Given the description of an element on the screen output the (x, y) to click on. 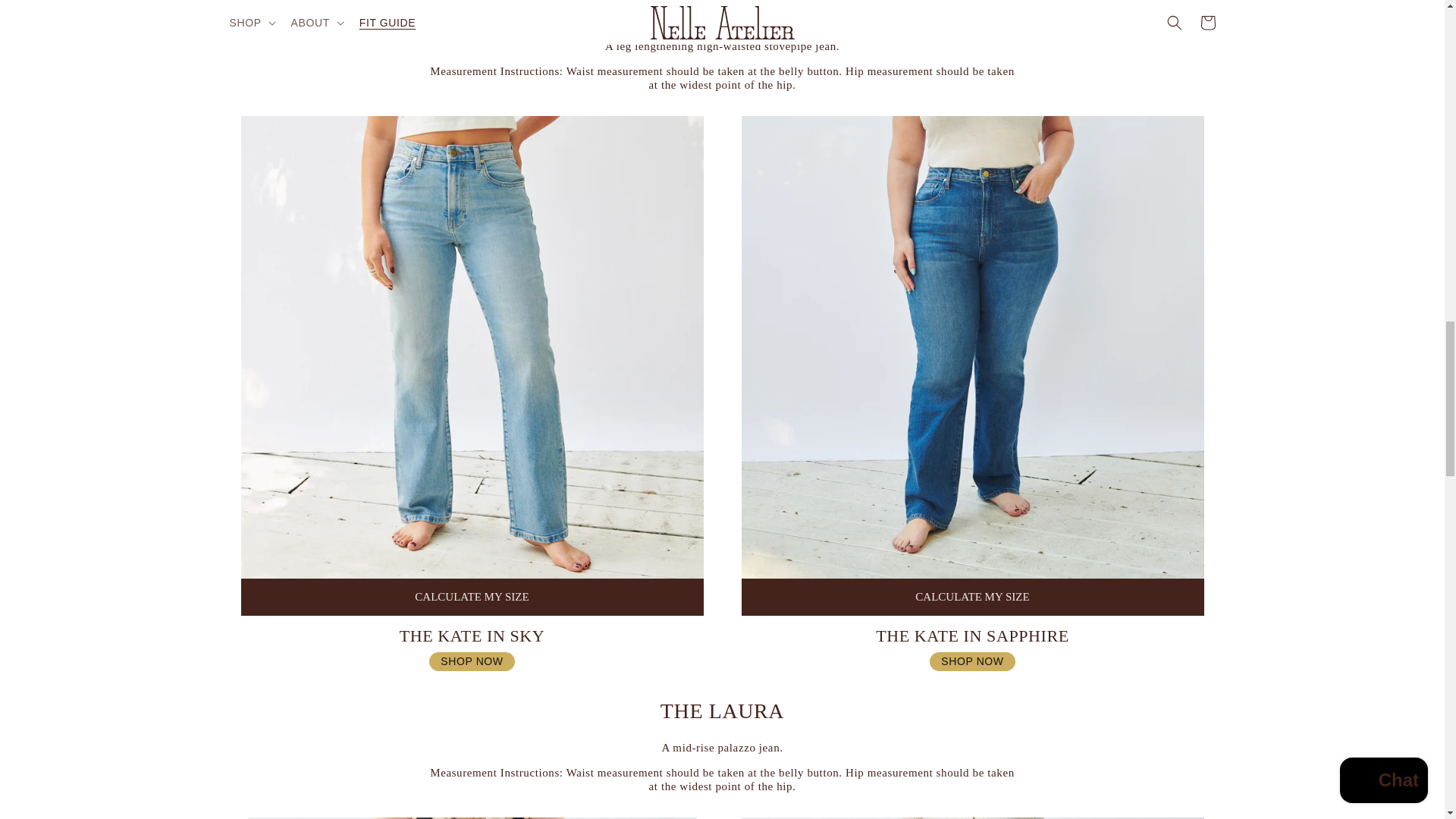
SHOP NOW (471, 660)
CALCULATE MY SIZE (472, 596)
